Given the description of an element on the screen output the (x, y) to click on. 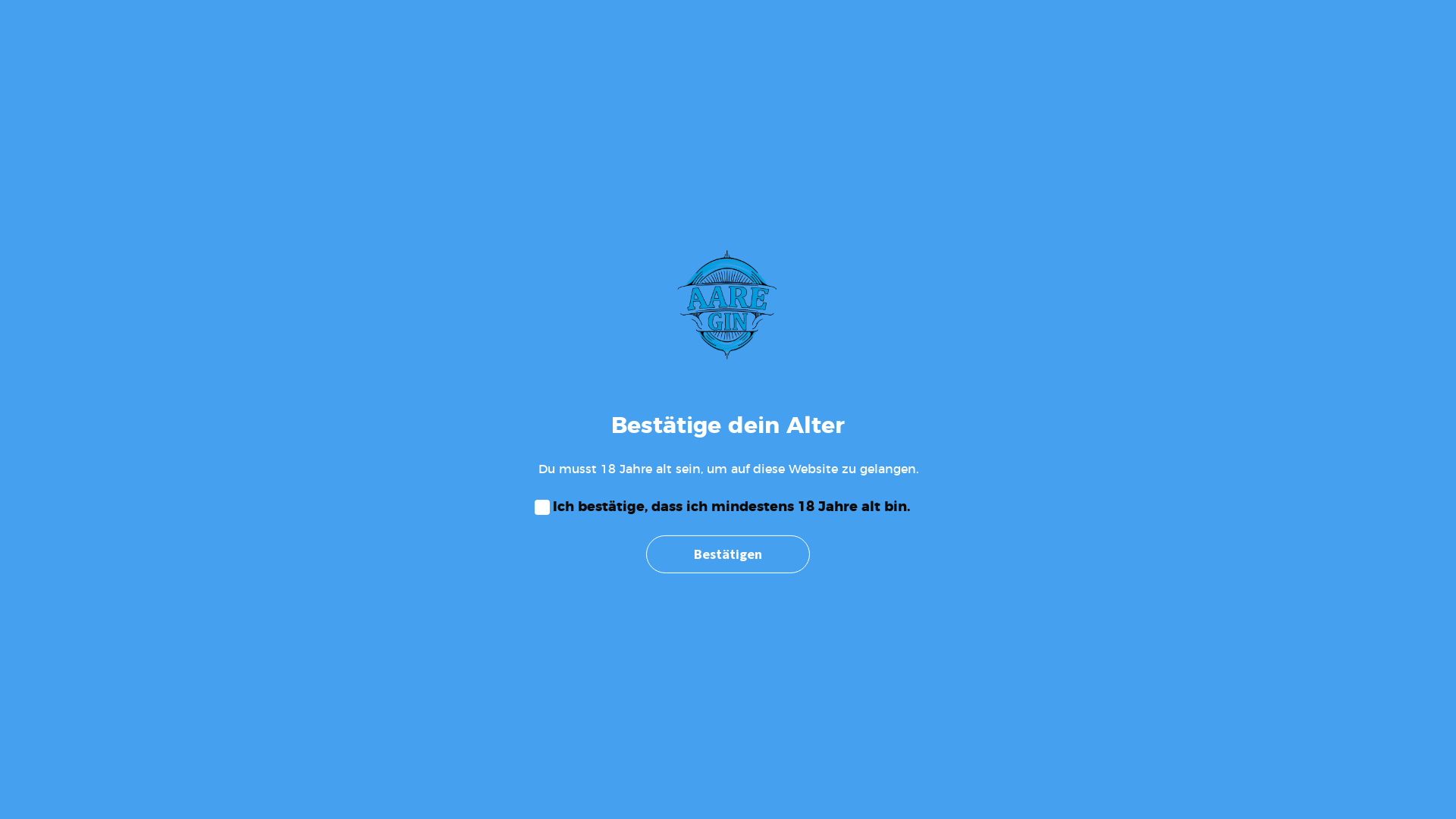
Home Element type: text (702, 155)
KONTAKT Element type: text (921, 47)
the gin from Bern Element type: hover (151, 47)
Impressum Element type: text (682, 726)
Search Element type: text (20, 20)
SHOP Element type: text (689, 47)
HOME Element type: text (631, 47)
REZEPTE Element type: text (756, 47)
Senden Element type: text (727, 615)
